Given the description of an element on the screen output the (x, y) to click on. 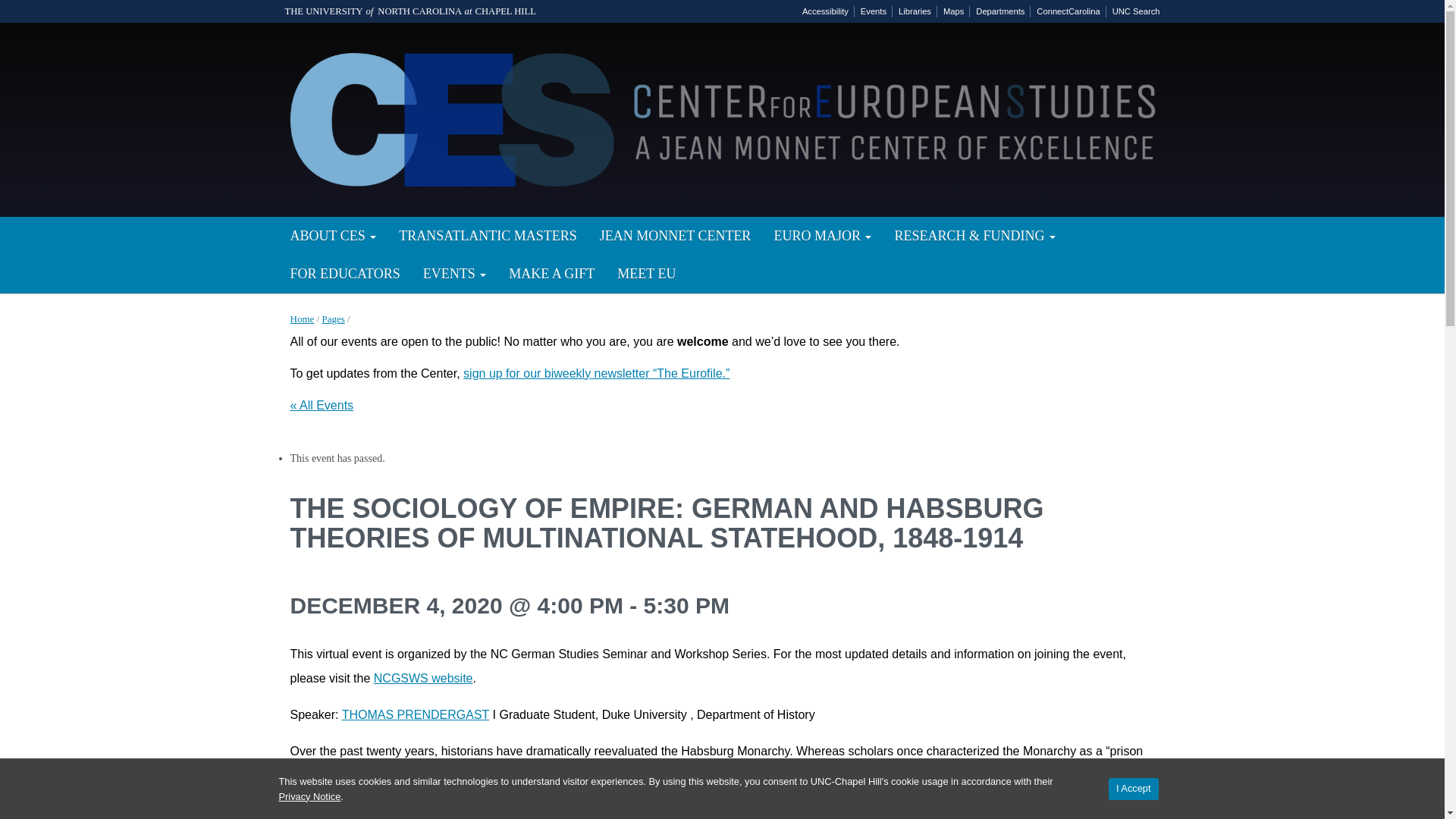
EVENTS (454, 273)
Departments (999, 11)
JEAN MONNET CENTER (675, 235)
UNC Search (1136, 11)
I Accept (1133, 789)
CES at UNC (721, 117)
ABOUT CES (333, 235)
FOR EDUCATORS (345, 273)
Privacy Notice (309, 796)
Events (873, 11)
EURO MAJOR (821, 235)
Maps (953, 11)
THE UNIVERSITY of NORTH CAROLINA at CHAPEL HILL (410, 11)
ConnectCarolina (1067, 11)
